Given the description of an element on the screen output the (x, y) to click on. 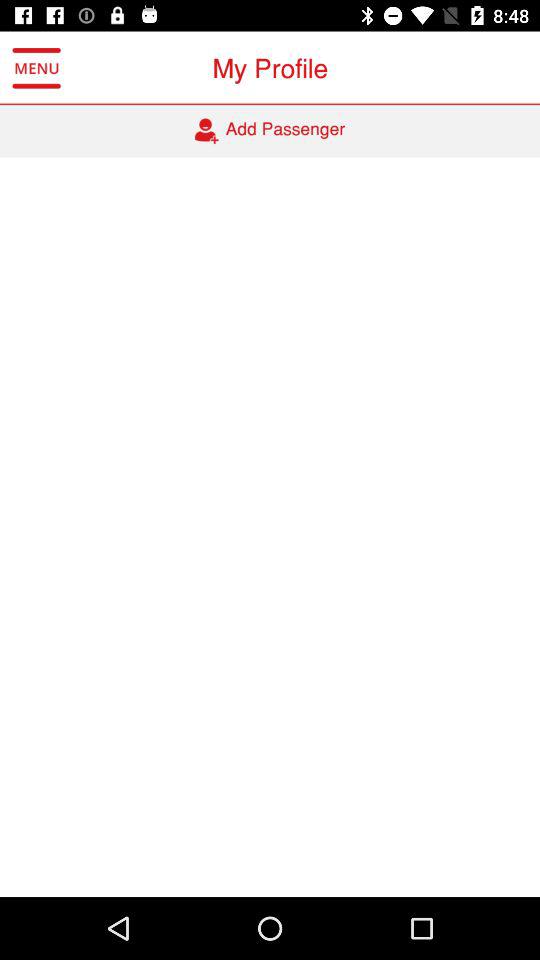
choose the item to the left of add passenger (36, 68)
